Given the description of an element on the screen output the (x, y) to click on. 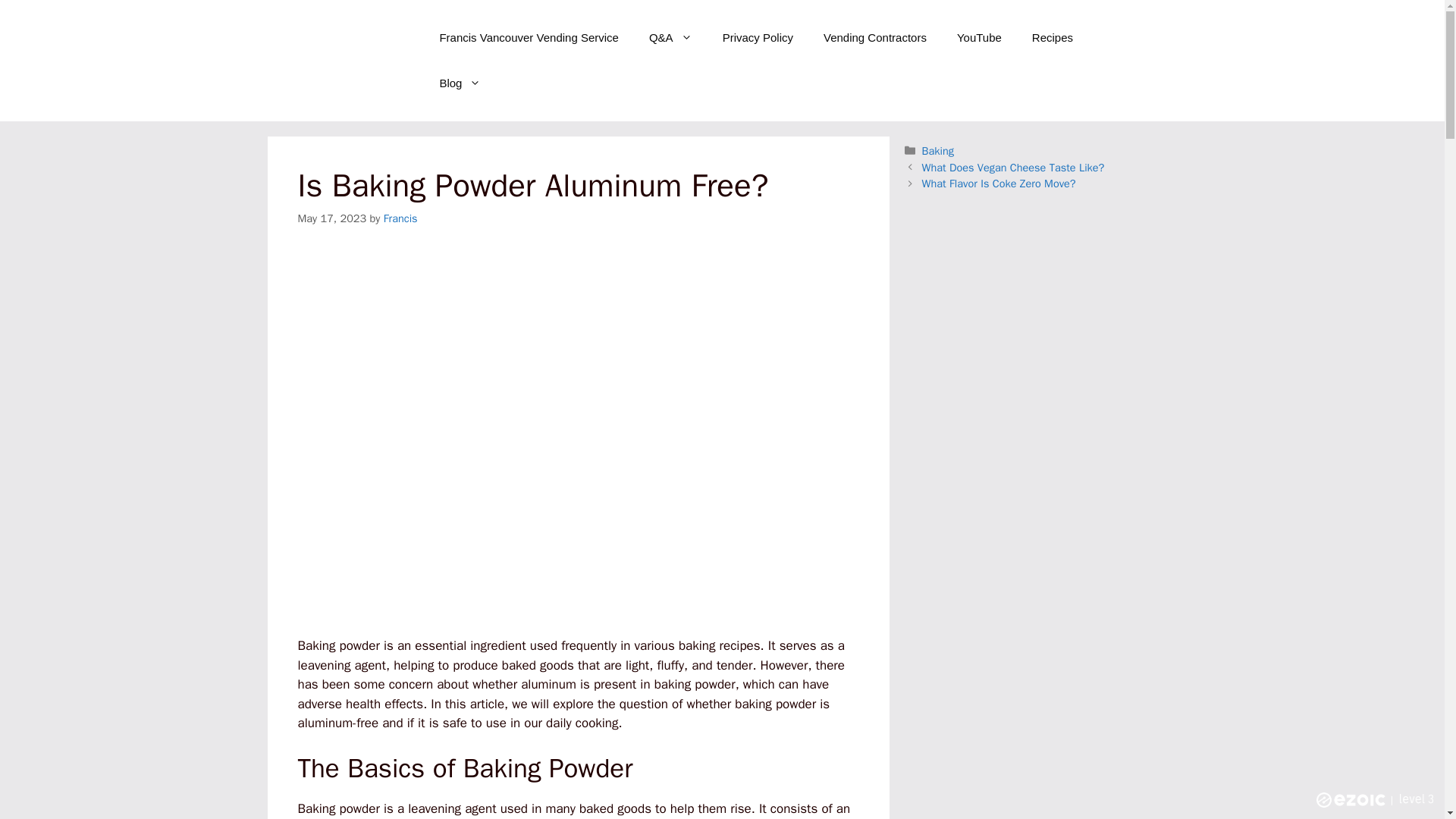
What Flavor Is Coke Zero Move? (998, 183)
Francis (400, 218)
What Does Vegan Cheese Taste Like? (1013, 167)
View all posts by Francis (400, 218)
Blog (459, 83)
Baking (937, 151)
Francis Vancouver Vending Service (528, 37)
Recipes (1051, 37)
Vending Contractors (875, 37)
